Given the description of an element on the screen output the (x, y) to click on. 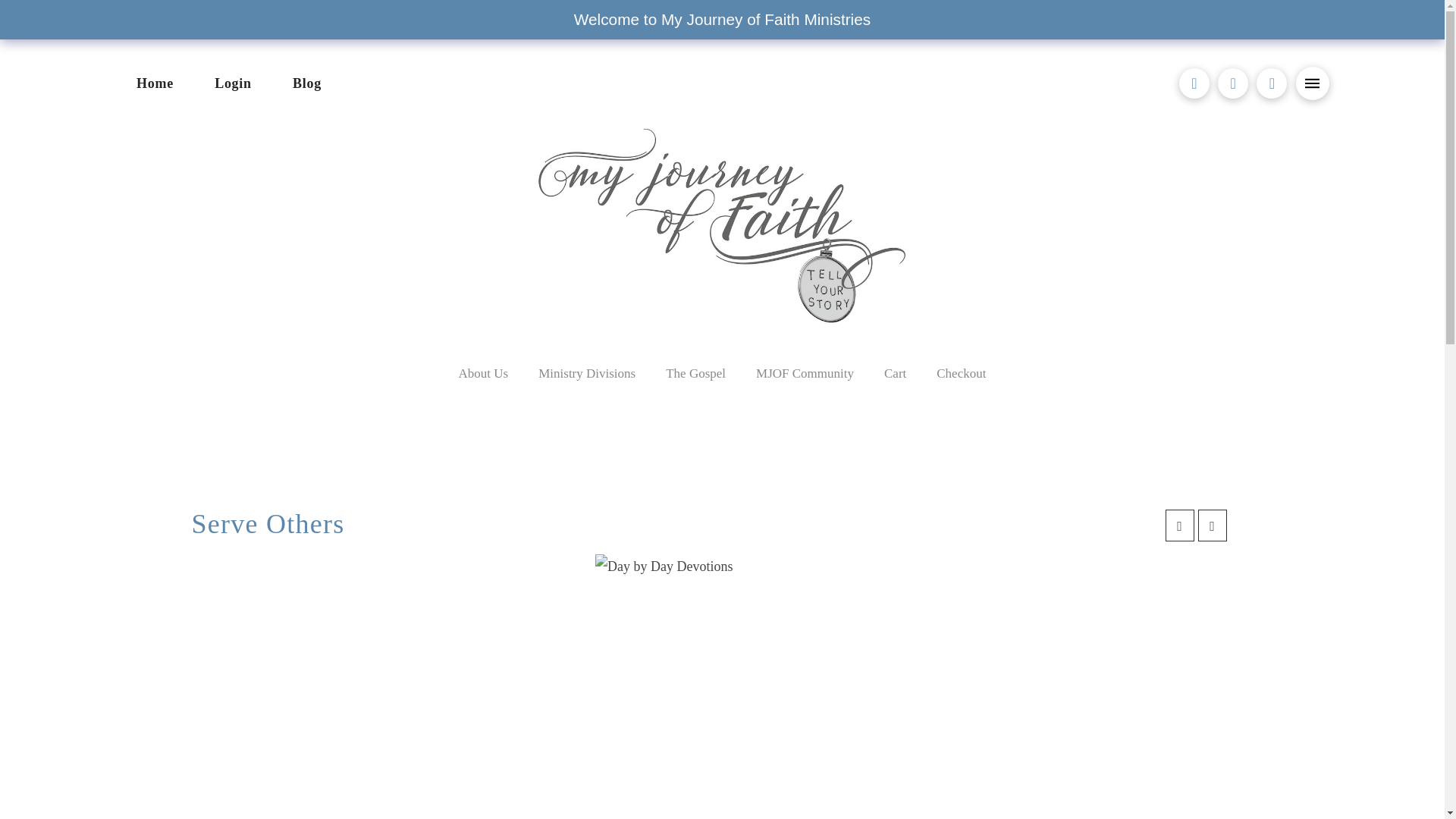
The Gospel (695, 373)
Home (154, 83)
Login (232, 83)
Blog (307, 83)
Checkout (961, 373)
MJOF Community (805, 373)
Cart (895, 373)
